Given the description of an element on the screen output the (x, y) to click on. 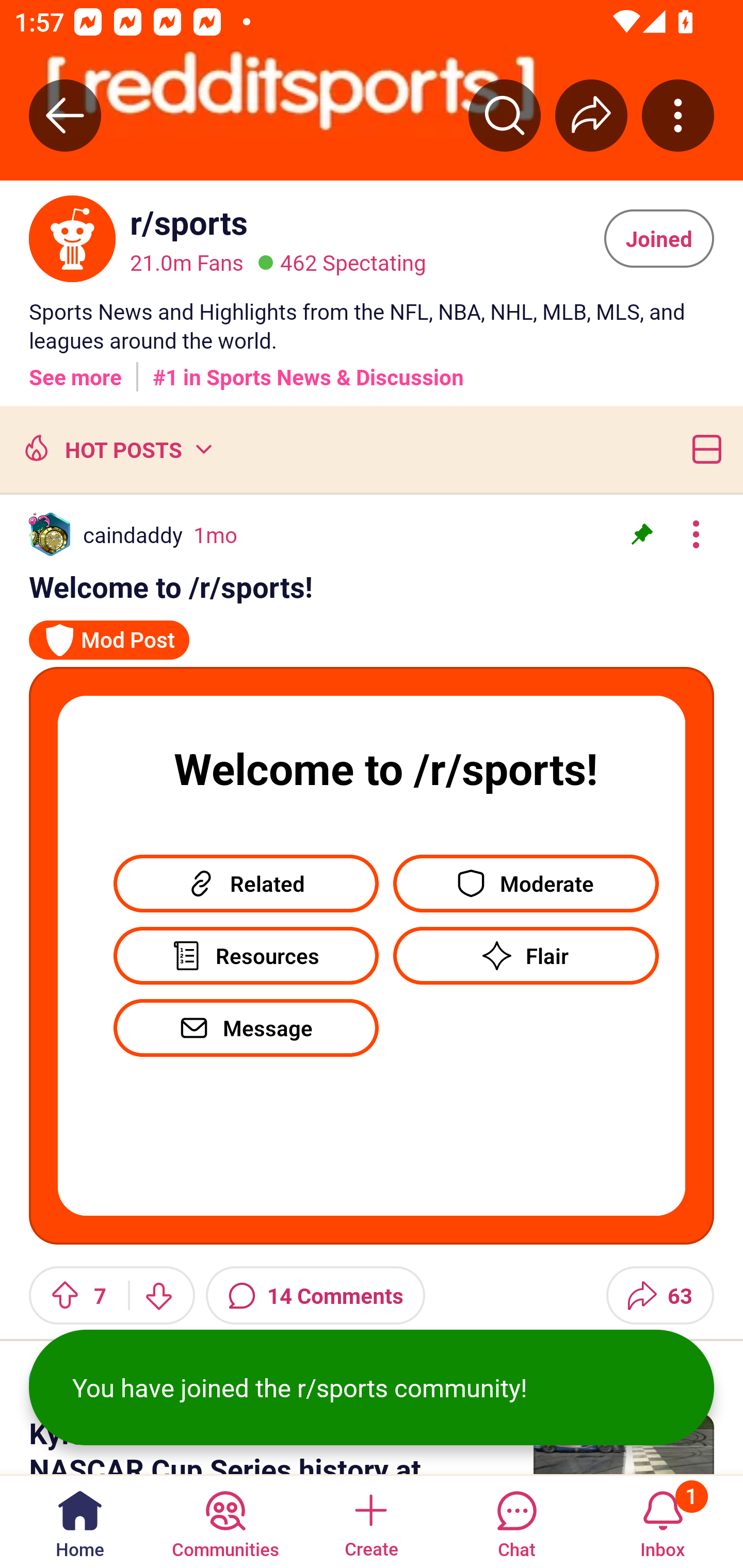
Back (64, 115)
Search r/﻿sports (504, 115)
Share r/﻿sports (591, 115)
More community actions (677, 115)
Hot posts HOT POSTS (116, 449)
Card (703, 449)
￼ Mod Post (108, 631)
link Related (245, 876)
mod Moderate (526, 876)
rules Resources (245, 948)
distinguish Flair (526, 955)
message Message (245, 1027)
Home (80, 1520)
Communities (225, 1520)
Create a post Create (370, 1520)
Chat (516, 1520)
Inbox, has 1 notification 1 Inbox (662, 1520)
